Given the description of an element on the screen output the (x, y) to click on. 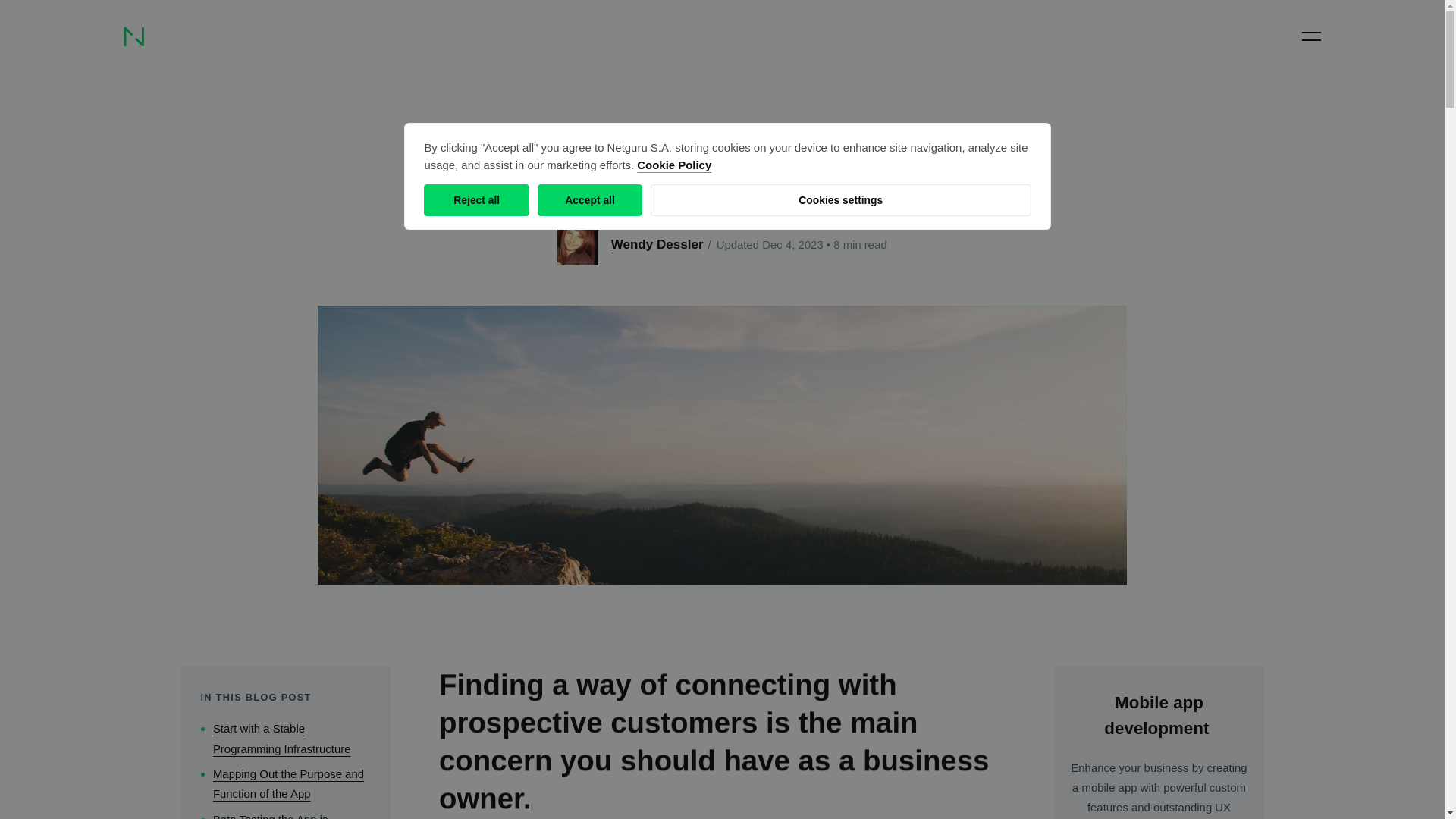
Toggle menu (1310, 36)
